Given the description of an element on the screen output the (x, y) to click on. 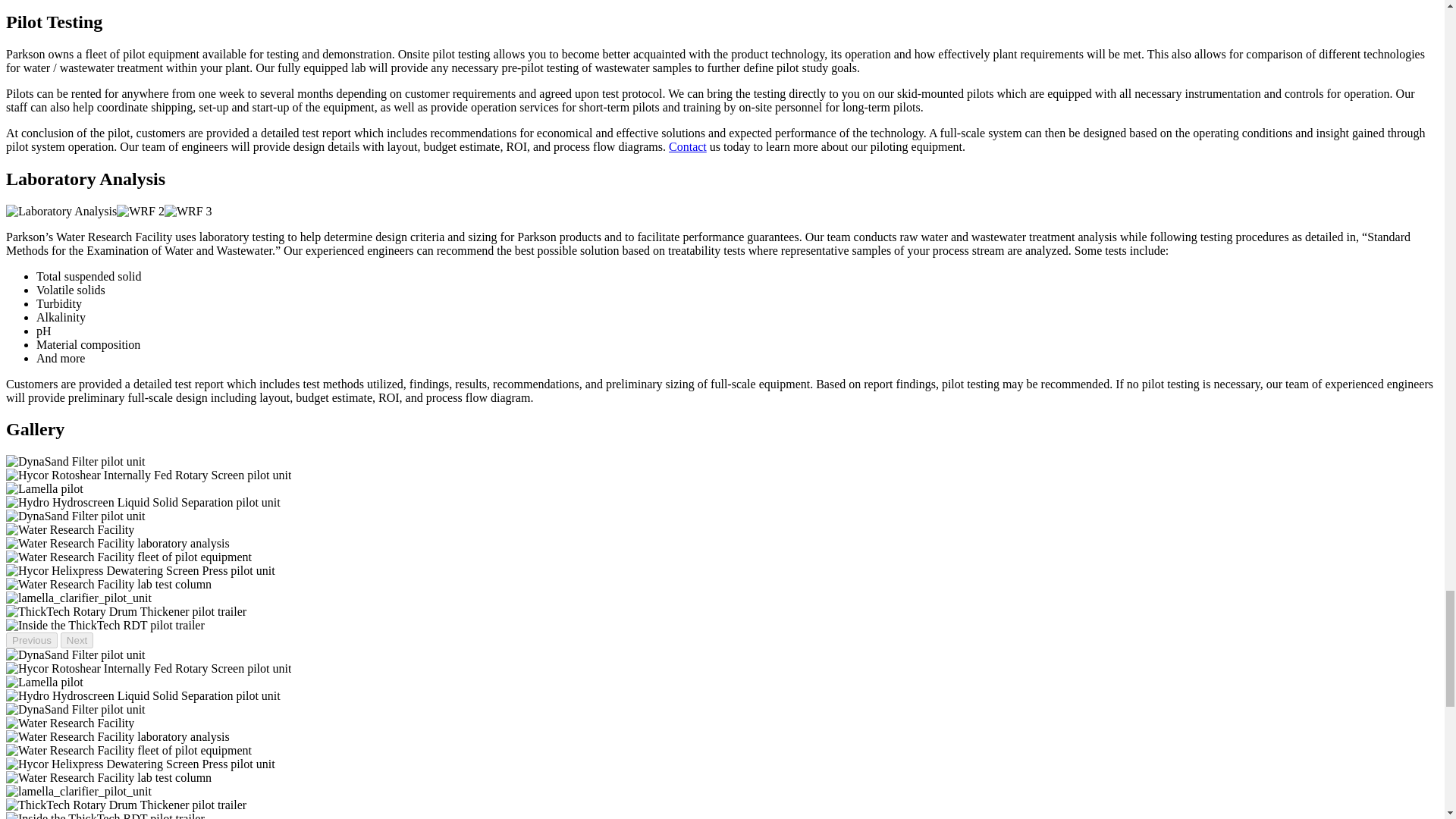
DSC00993.JPG (125, 612)
